Given the description of an element on the screen output the (x, y) to click on. 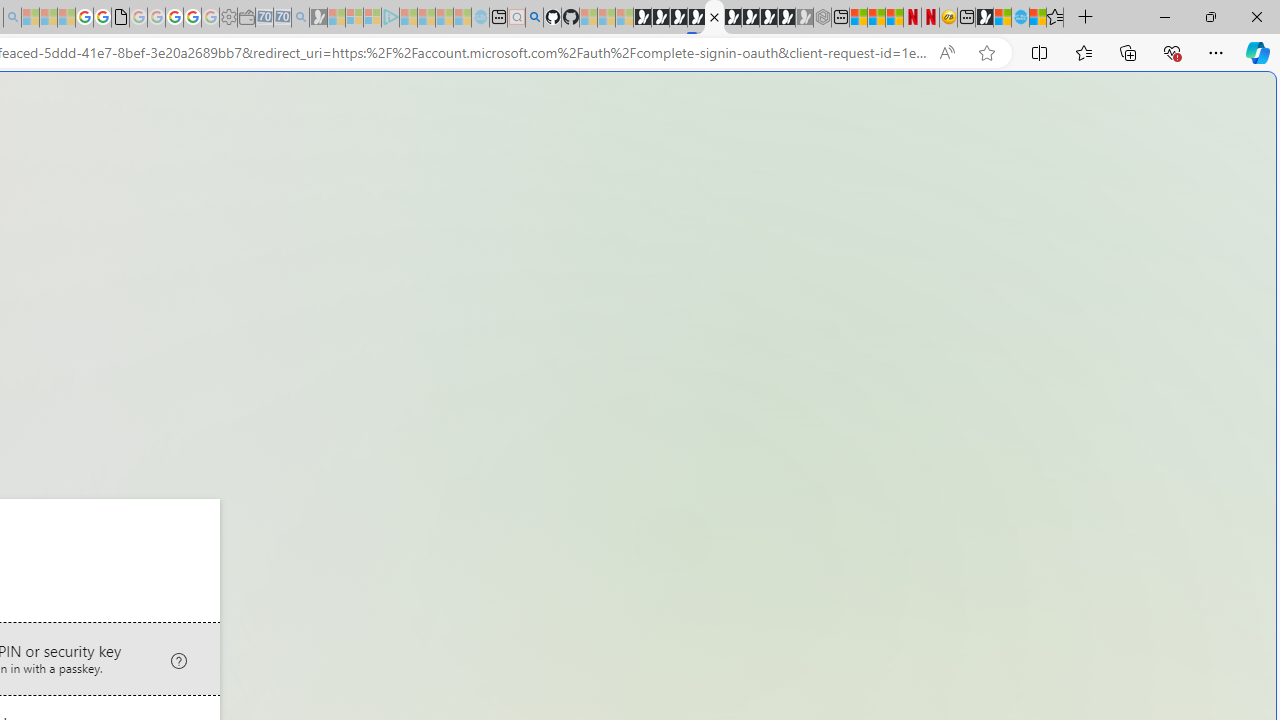
Sign in to your account (714, 17)
Tabs you've opened (276, 265)
